Given the description of an element on the screen output the (x, y) to click on. 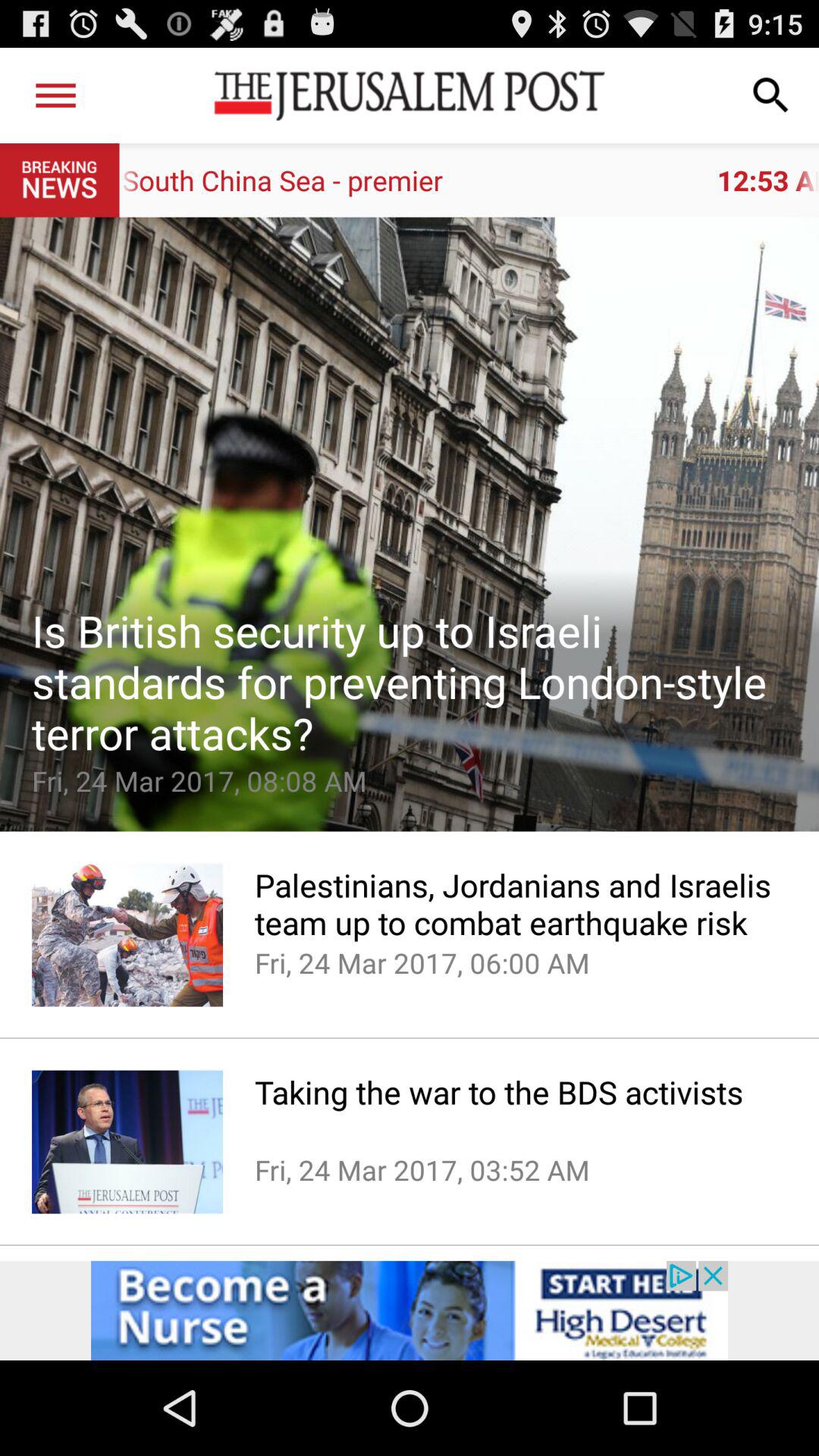
turn off the app to the left of the 12 53 am icon (55, 95)
